Given the description of an element on the screen output the (x, y) to click on. 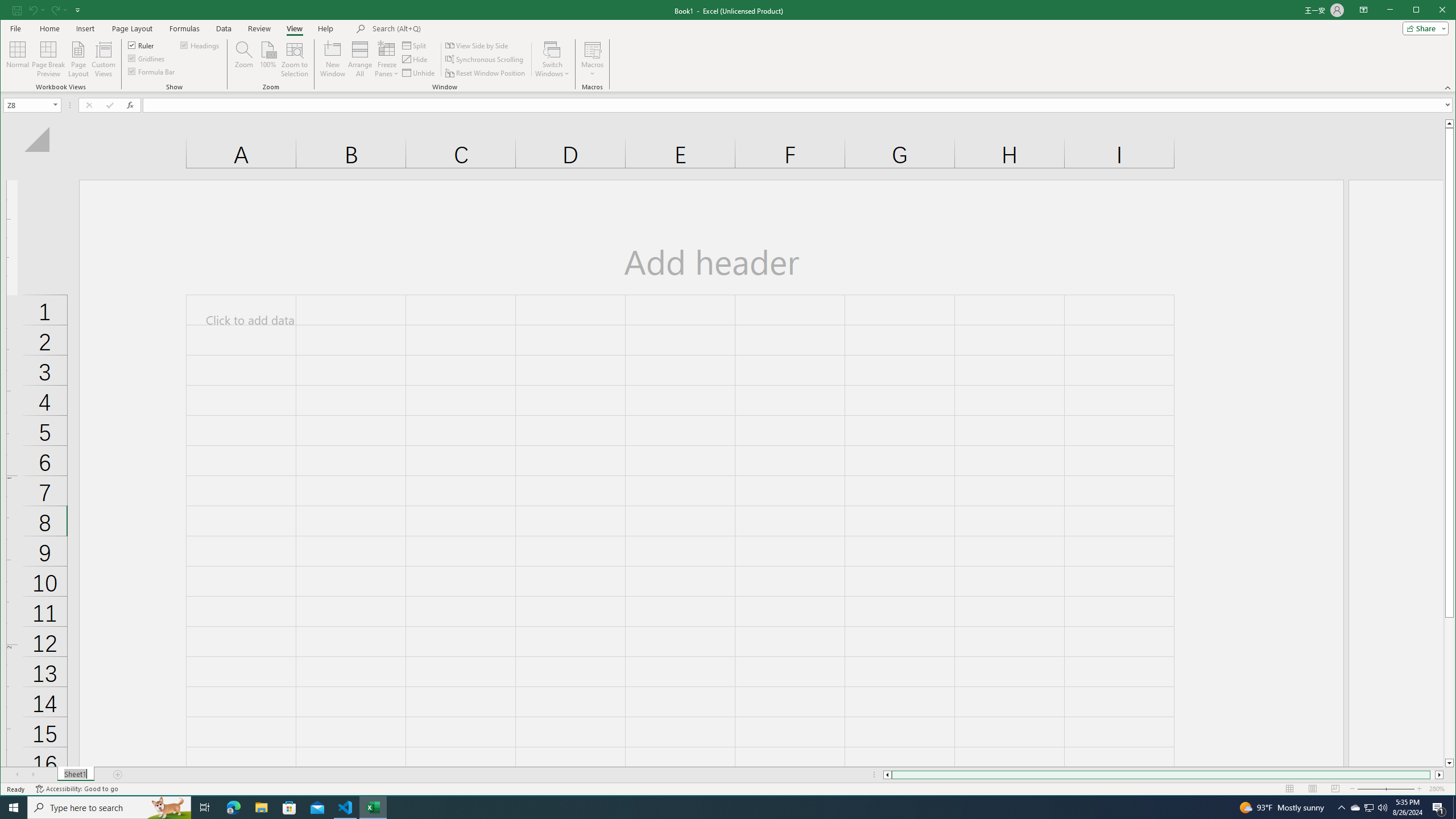
Ruler (141, 44)
Switch Windows (552, 59)
100% (267, 59)
File Explorer (1368, 807)
New Window (261, 807)
Split (332, 59)
